Given the description of an element on the screen output the (x, y) to click on. 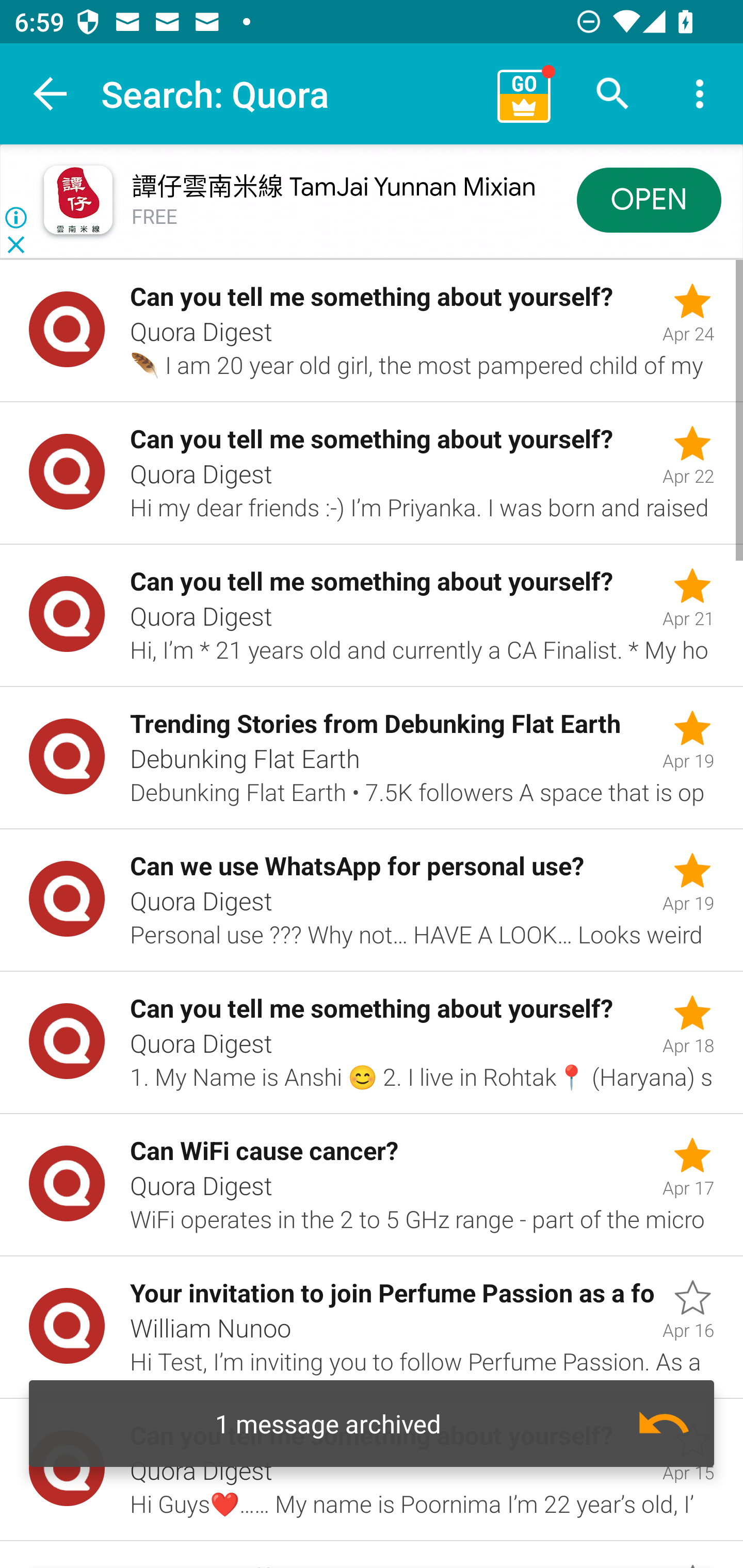
Navigate up (50, 93)
Search (612, 93)
More options (699, 93)
OPEN (648, 199)
譚仔雲南米線 TamJai Yunnan Mixian (333, 186)
FREE (154, 216)
Undo 1 message archived (371, 1423)
